Given the description of an element on the screen output the (x, y) to click on. 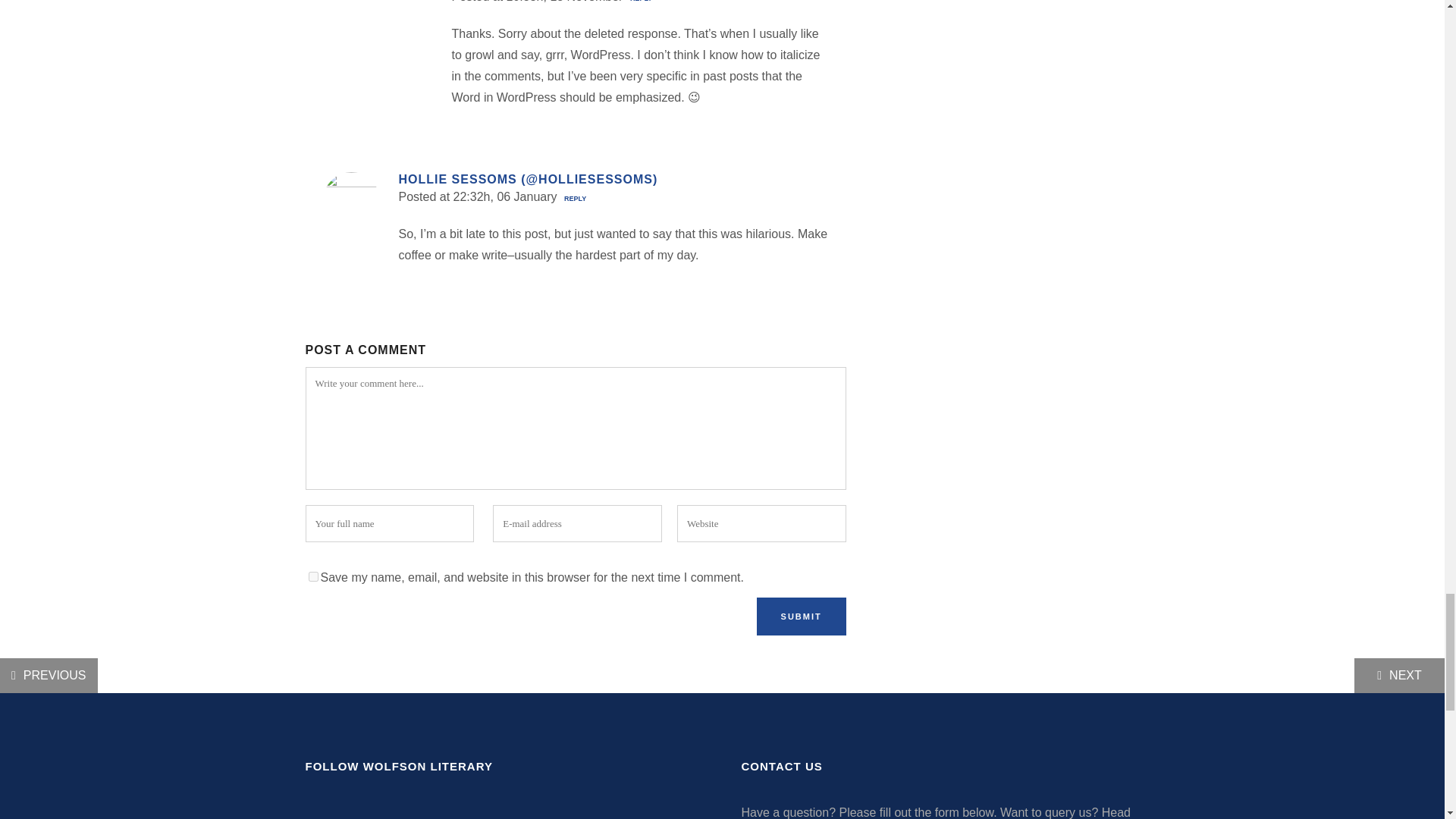
yes (312, 576)
Submit (801, 616)
